Given the description of an element on the screen output the (x, y) to click on. 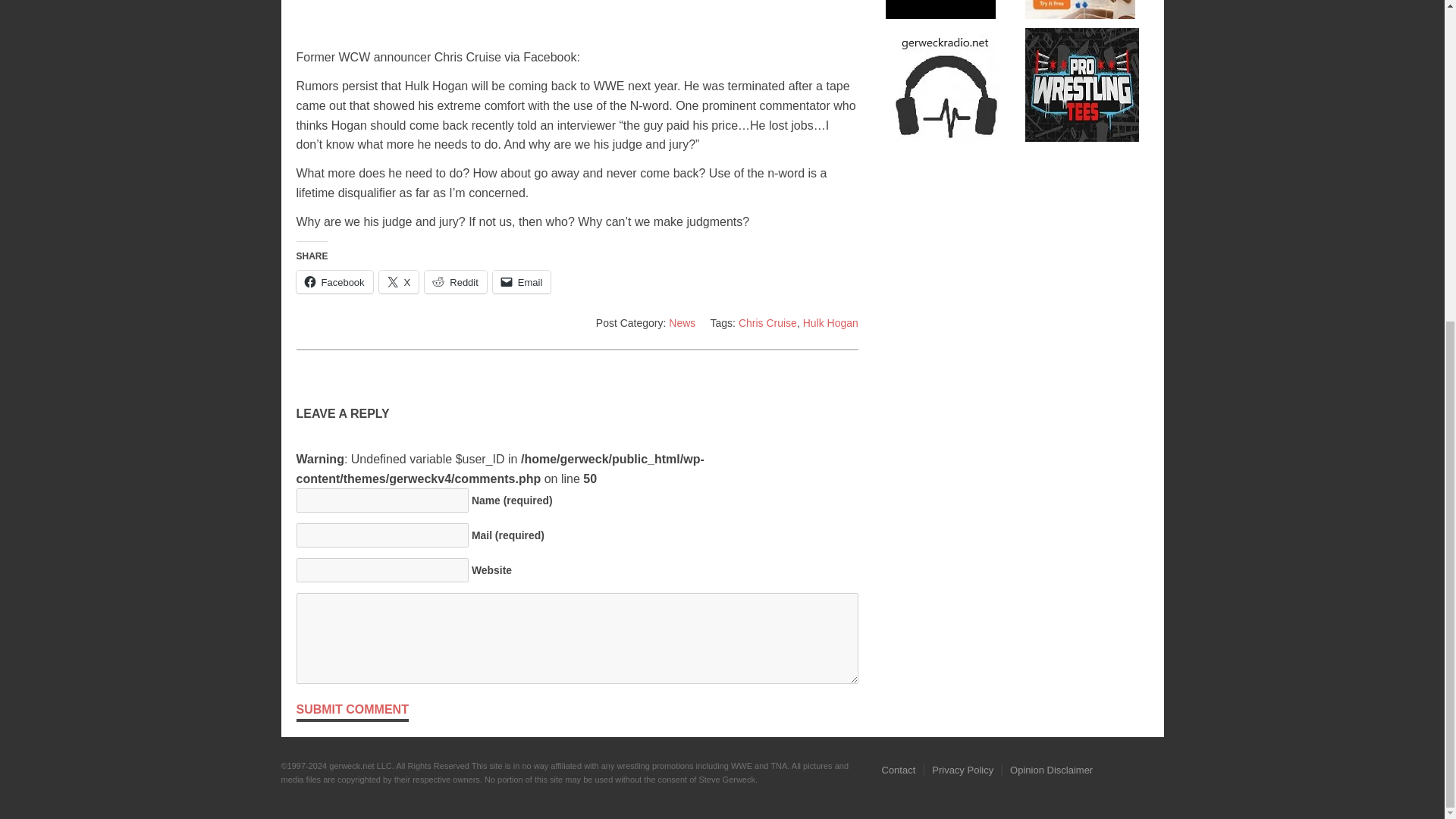
Click to share on Facebook (333, 282)
Click to share on X (398, 282)
Click to email a link to a friend (522, 282)
Submit Comment (351, 711)
Click to share on Reddit (455, 282)
